Given the description of an element on the screen output the (x, y) to click on. 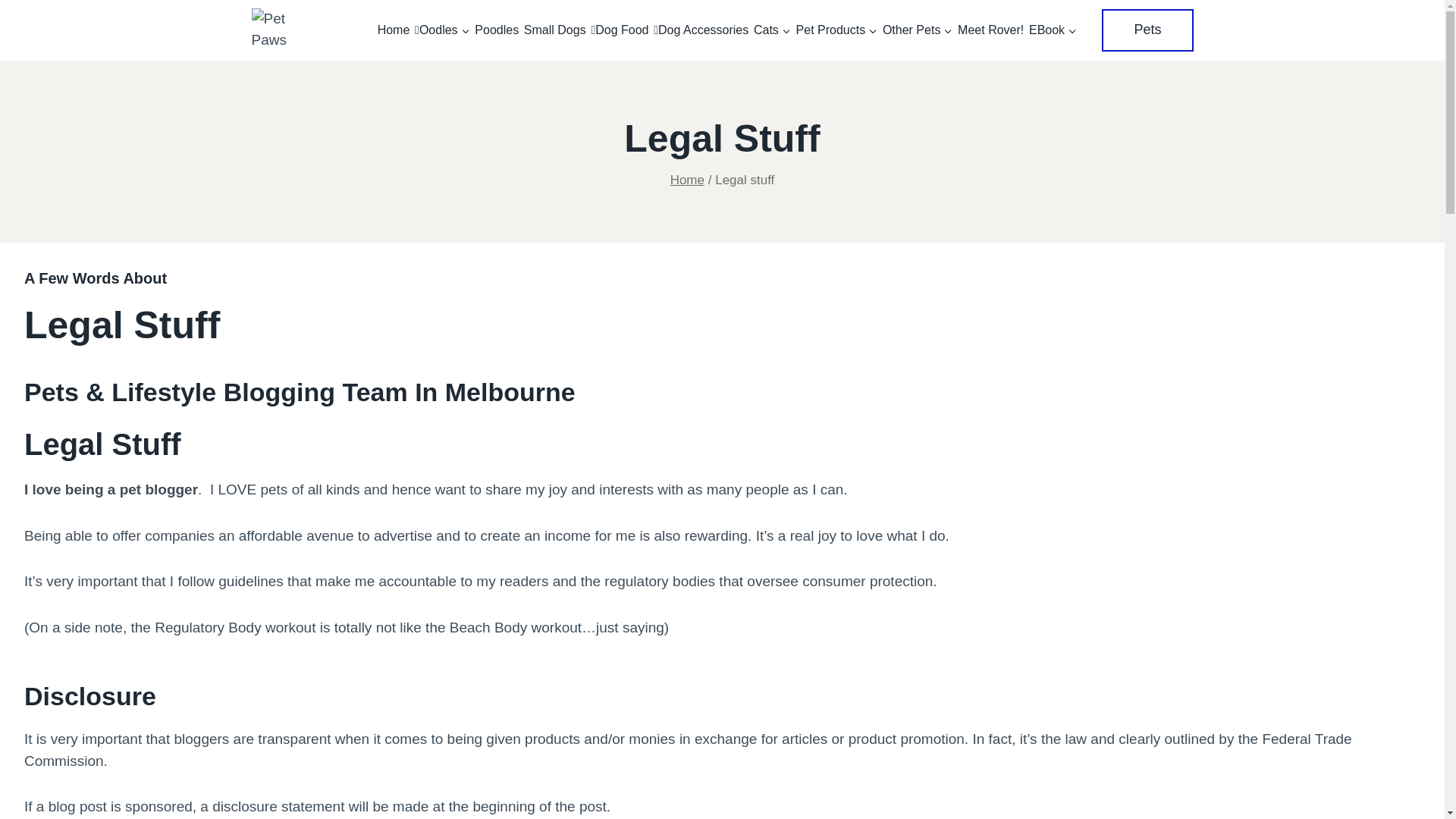
Pets (1147, 30)
Poodles (496, 30)
Pet Products (836, 30)
Cats (772, 30)
Small Dogs (555, 30)
EBook (1053, 30)
Home (393, 30)
Other Pets (917, 30)
Meet Rover! (990, 30)
Home (686, 179)
